Given the description of an element on the screen output the (x, y) to click on. 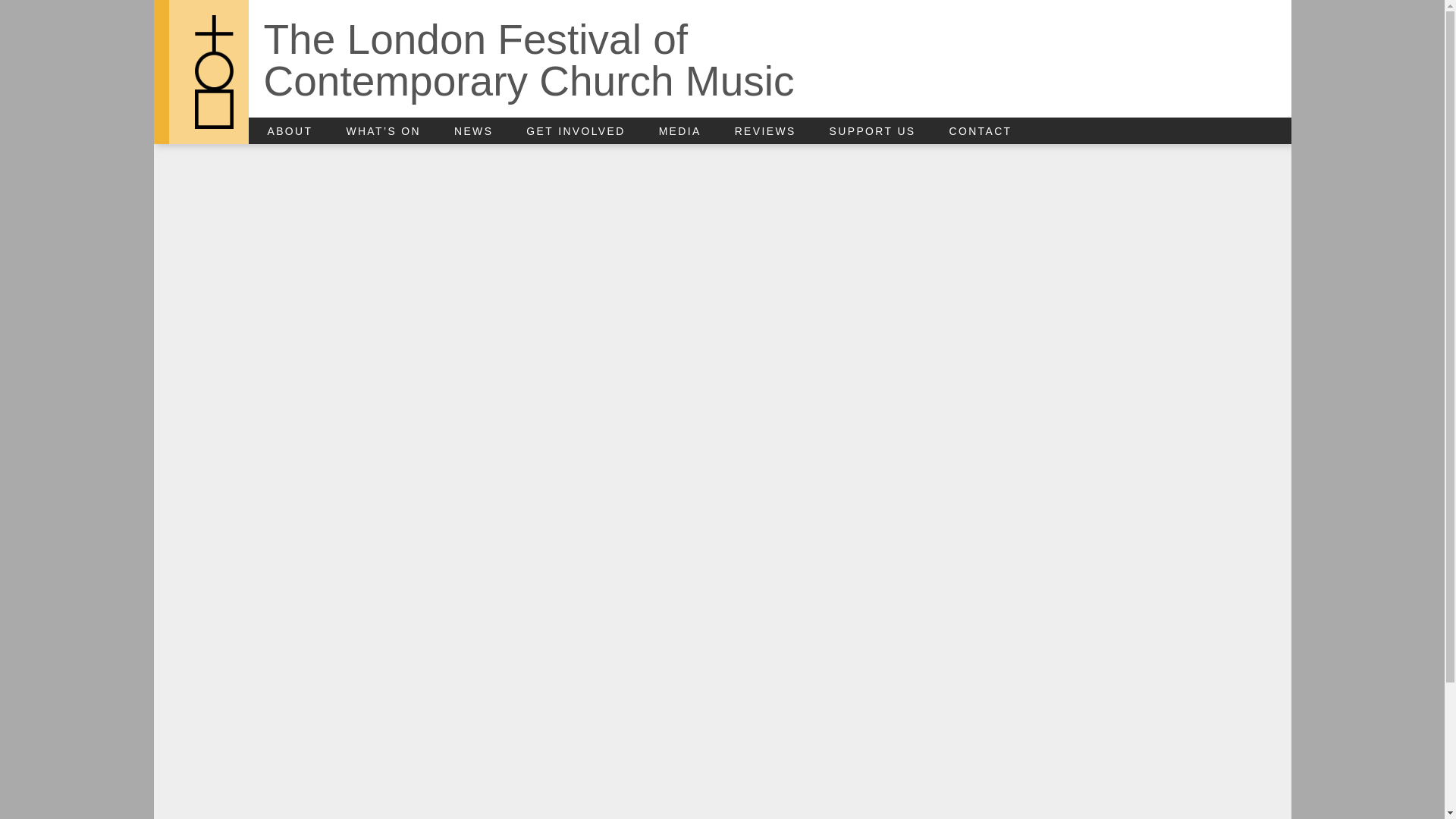
REVIEWS (782, 130)
GET INVOLVED (591, 130)
ABOUT (306, 130)
MEDIA (697, 130)
NEWS (489, 130)
CONTACT (997, 130)
SUPPORT US (889, 130)
